Given the description of an element on the screen output the (x, y) to click on. 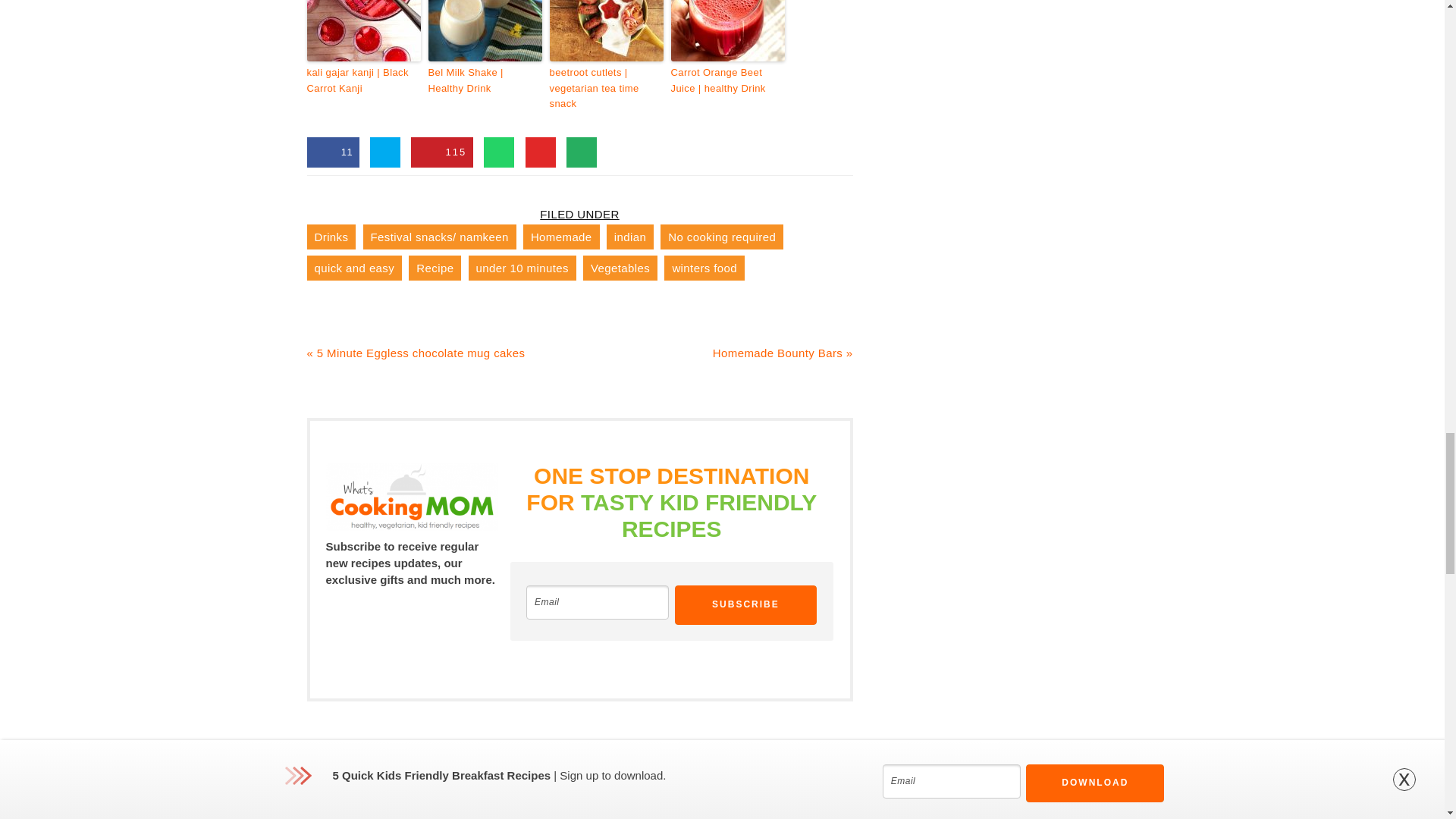
Save to Pinterest (440, 152)
Share on Facebook (331, 152)
Share on WhatsApp (498, 152)
Share on Twitter (384, 152)
